Given the description of an element on the screen output the (x, y) to click on. 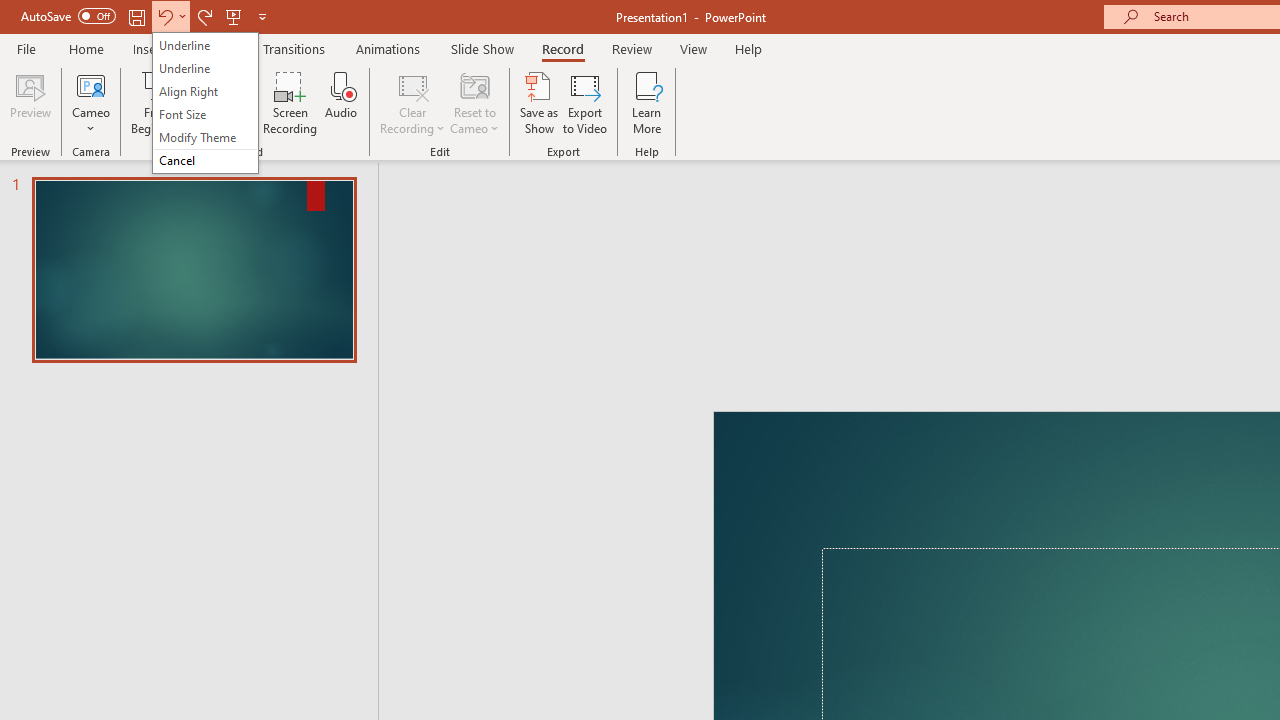
Save as Show (539, 102)
Screen Recording (290, 102)
Reset to Cameo (474, 102)
Learn More (646, 102)
Clear Recording (412, 102)
